Given the description of an element on the screen output the (x, y) to click on. 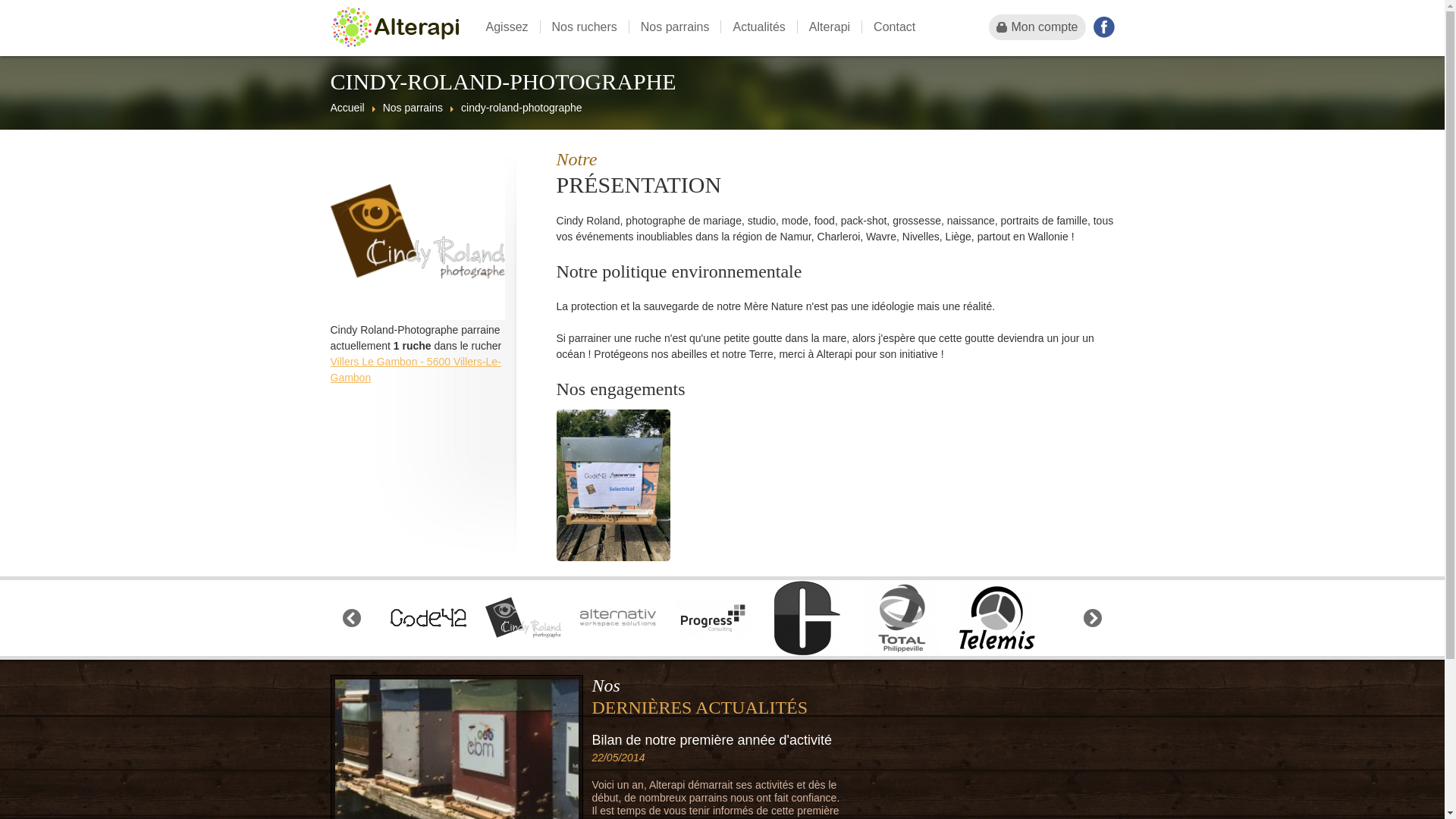
cindy-roland-photographe Element type: hover (523, 617)
Previous Element type: text (351, 617)
alternativ Element type: hover (617, 617)
Alterapi Element type: text (829, 26)
total-philippeville Element type: hover (902, 617)
Accueil Element type: text (347, 107)
Facebook Element type: text (1103, 26)
telemis-sa Element type: hover (997, 617)
progress-consulting Element type: hover (712, 617)
colette-sa Element type: hover (807, 617)
code42 Element type: hover (428, 617)
Mon compte Element type: text (1036, 27)
Next Element type: text (1092, 617)
Nos parrains Element type: text (412, 107)
Contact Element type: text (893, 26)
Accueil Element type: hover (394, 28)
Nos parrains Element type: text (674, 26)
Villers Le Gambon - 5600 Villers-Le-Gambon Element type: text (415, 368)
Nos ruchers Element type: text (583, 26)
